Given the description of an element on the screen output the (x, y) to click on. 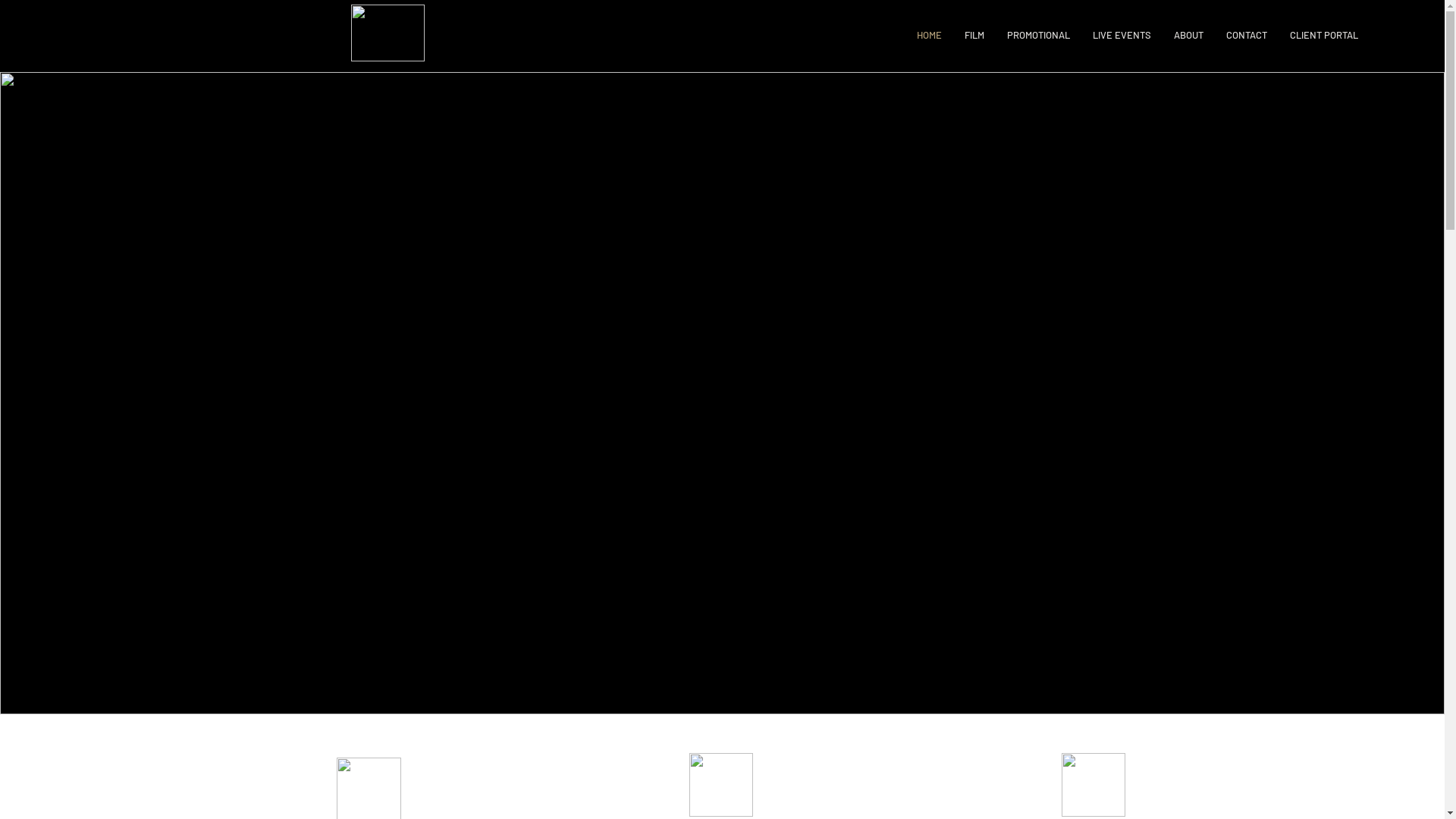
LIVE EVENTS Element type: text (1121, 34)
CONTACT Element type: text (1246, 34)
PROMOTIONAL Element type: text (1038, 34)
FILM Element type: text (974, 34)
353 Logo (White).png Element type: hover (386, 32)
CLIENT PORTAL Element type: text (1323, 34)
HOME Element type: text (929, 34)
